Given the description of an element on the screen output the (x, y) to click on. 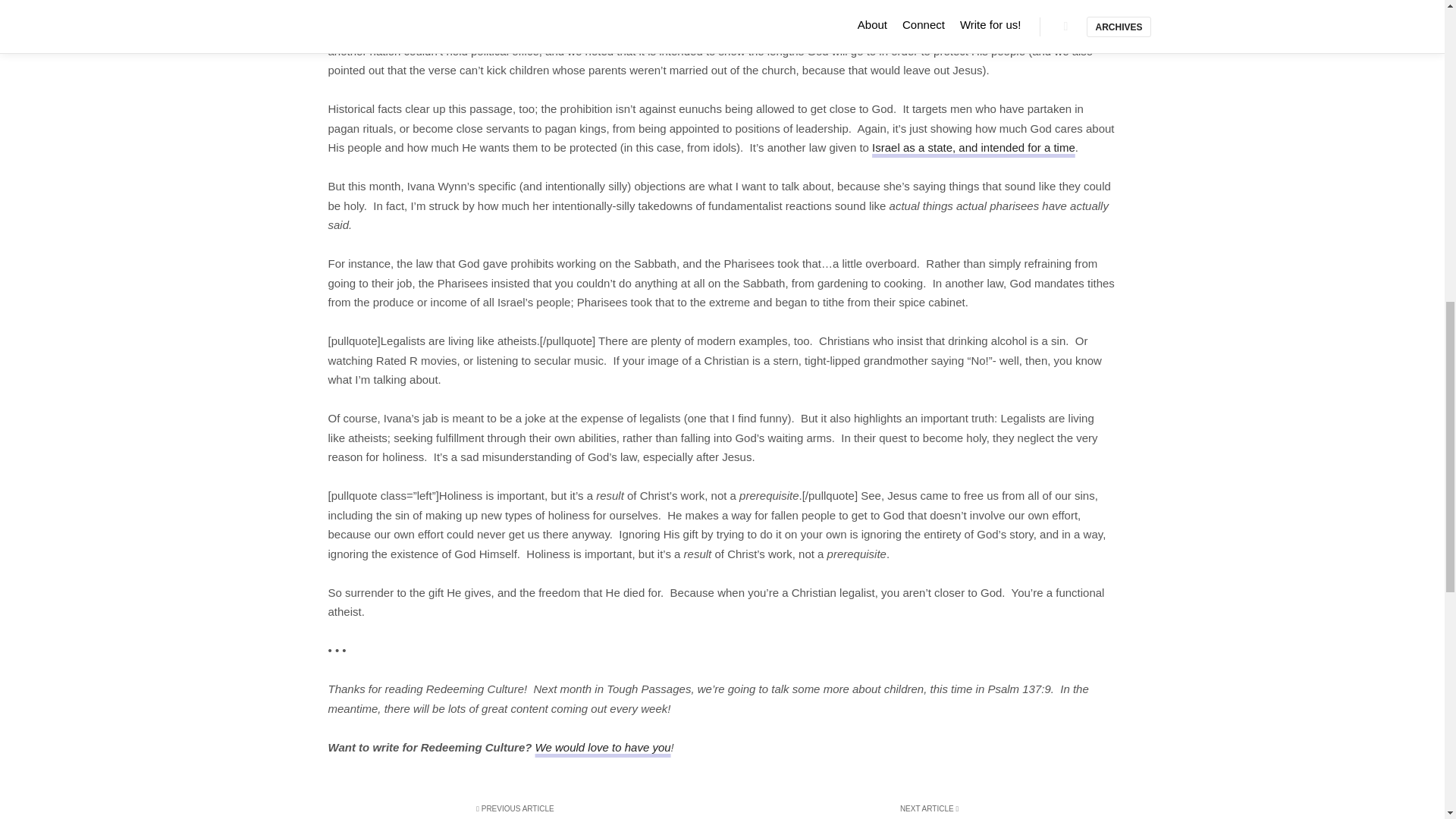
Israel as a state, and intended for a time (973, 146)
our previous Tough Passage (532, 31)
We would love to have you (603, 747)
